Given the description of an element on the screen output the (x, y) to click on. 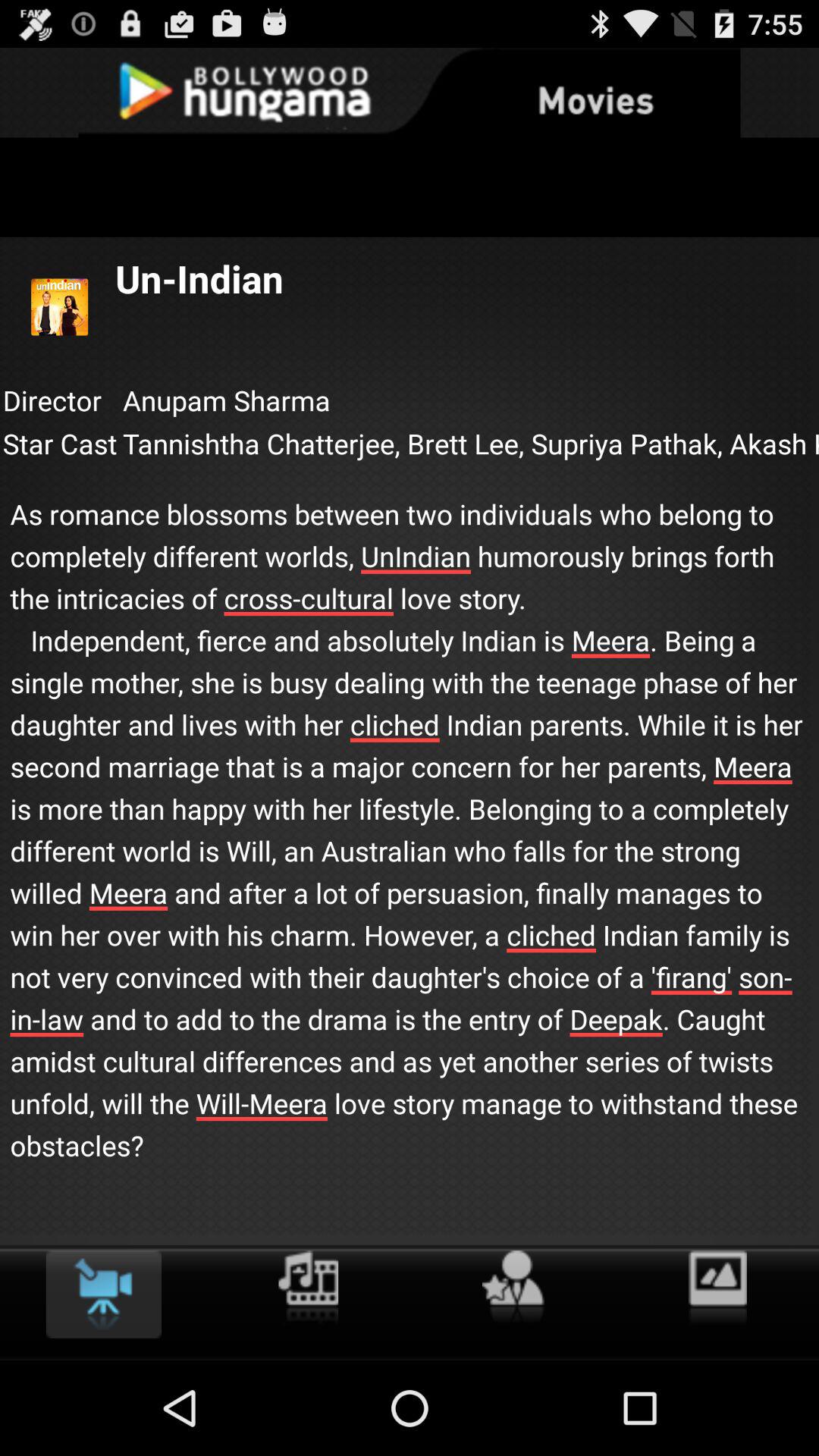
open music (307, 1287)
